Given the description of an element on the screen output the (x, y) to click on. 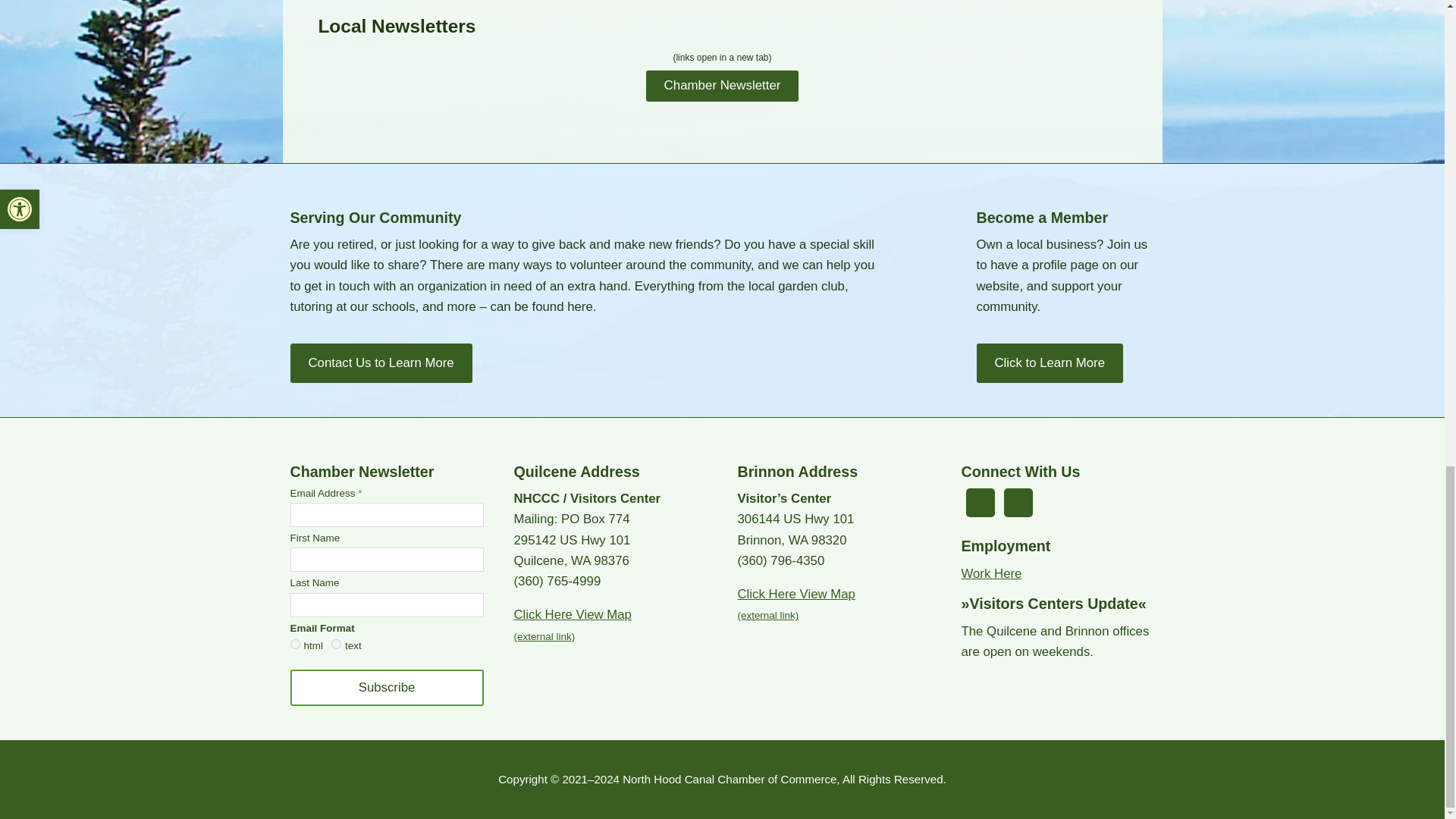
Subscribe (386, 687)
text (335, 644)
html (294, 644)
